Given the description of an element on the screen output the (x, y) to click on. 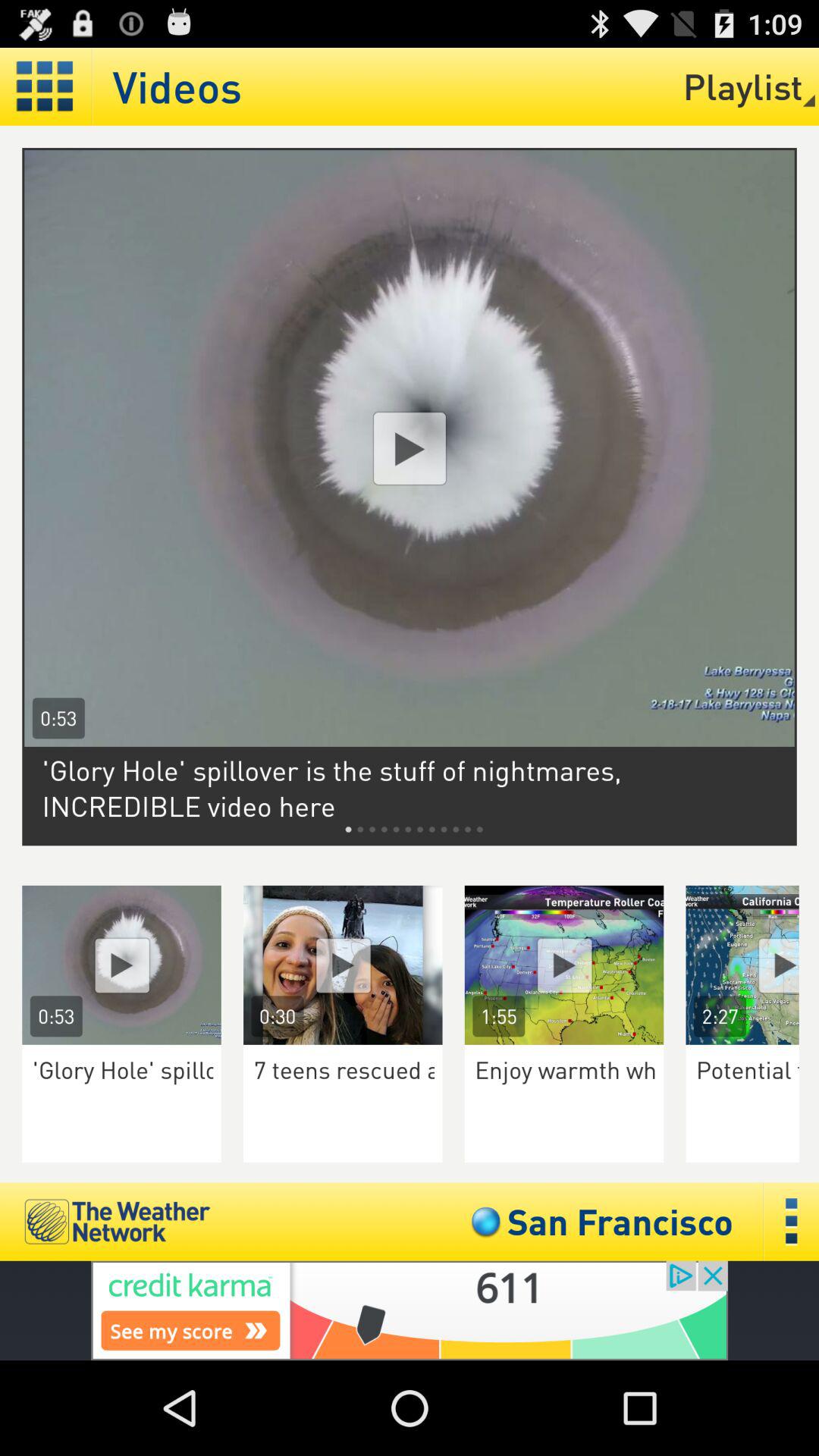
options (791, 1221)
